Given the description of an element on the screen output the (x, y) to click on. 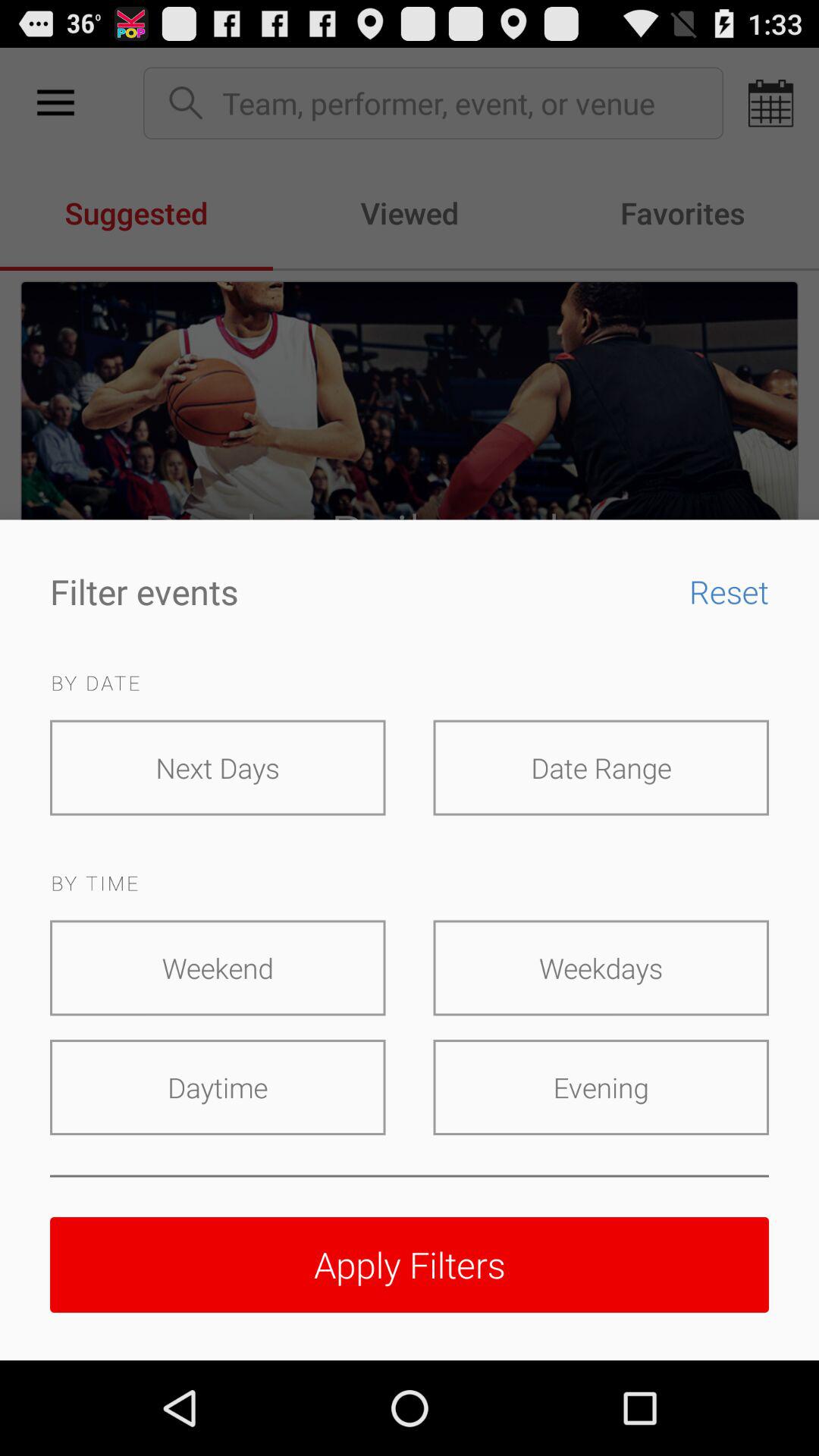
choose the daytime item (217, 1087)
